Given the description of an element on the screen output the (x, y) to click on. 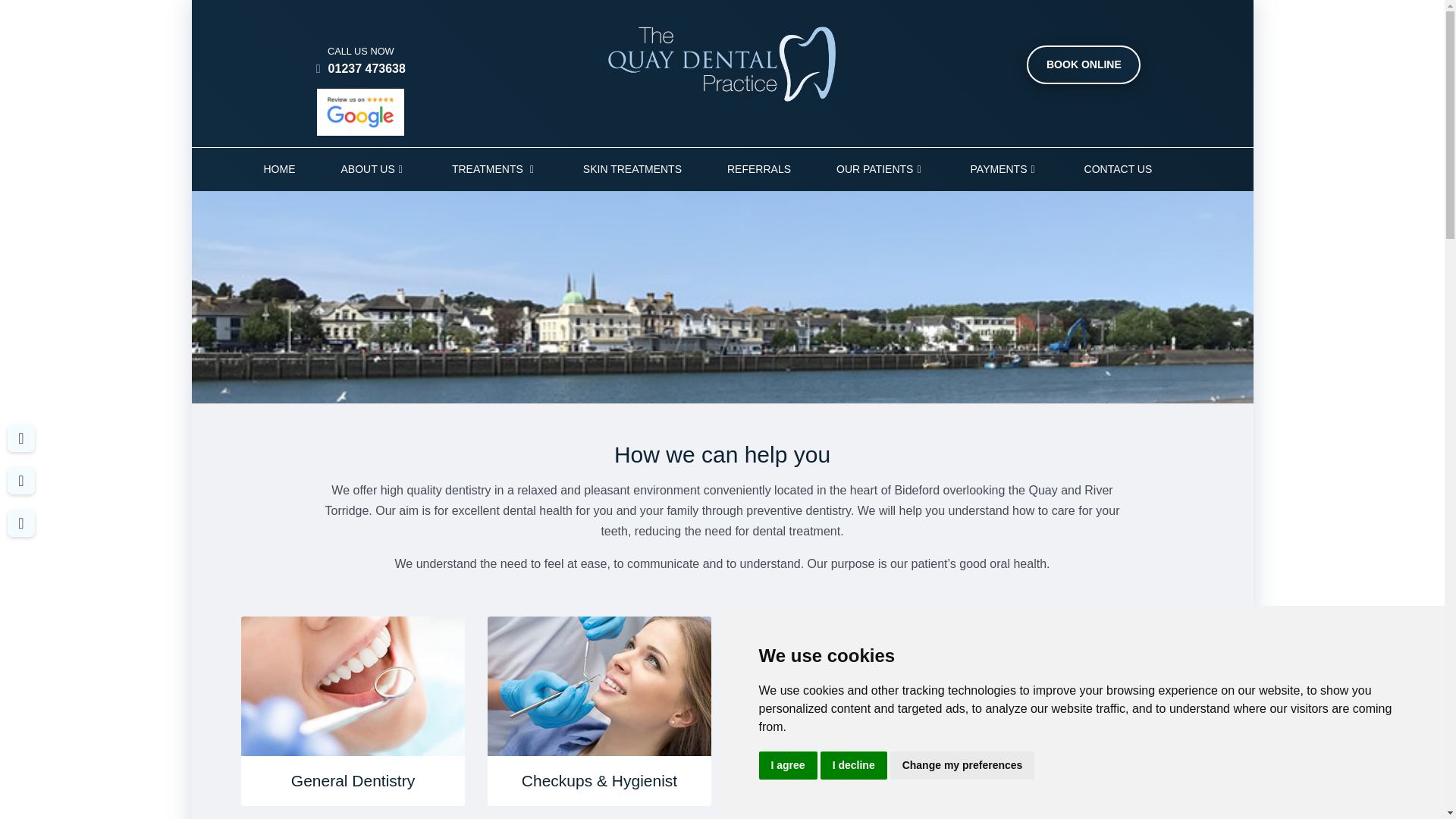
CONTACT US (1117, 169)
SKIN TREATMENTS (632, 169)
HOME (279, 169)
I agree (787, 765)
TREATMENTS (494, 169)
OUR PATIENTS (880, 169)
General Dentistry (352, 710)
ABOUT US (373, 169)
I decline (853, 765)
